Given the description of an element on the screen output the (x, y) to click on. 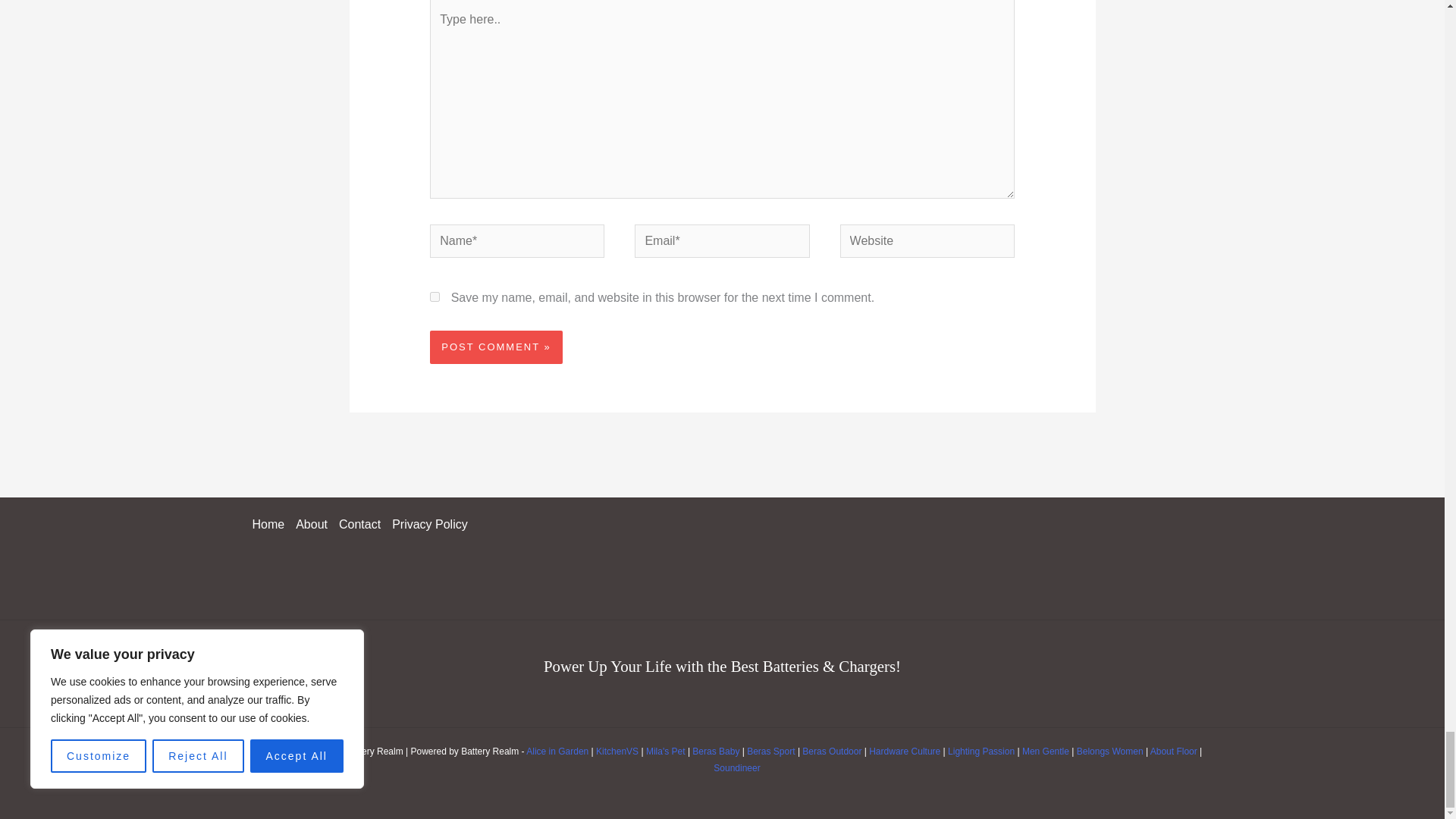
yes (434, 296)
